Given the description of an element on the screen output the (x, y) to click on. 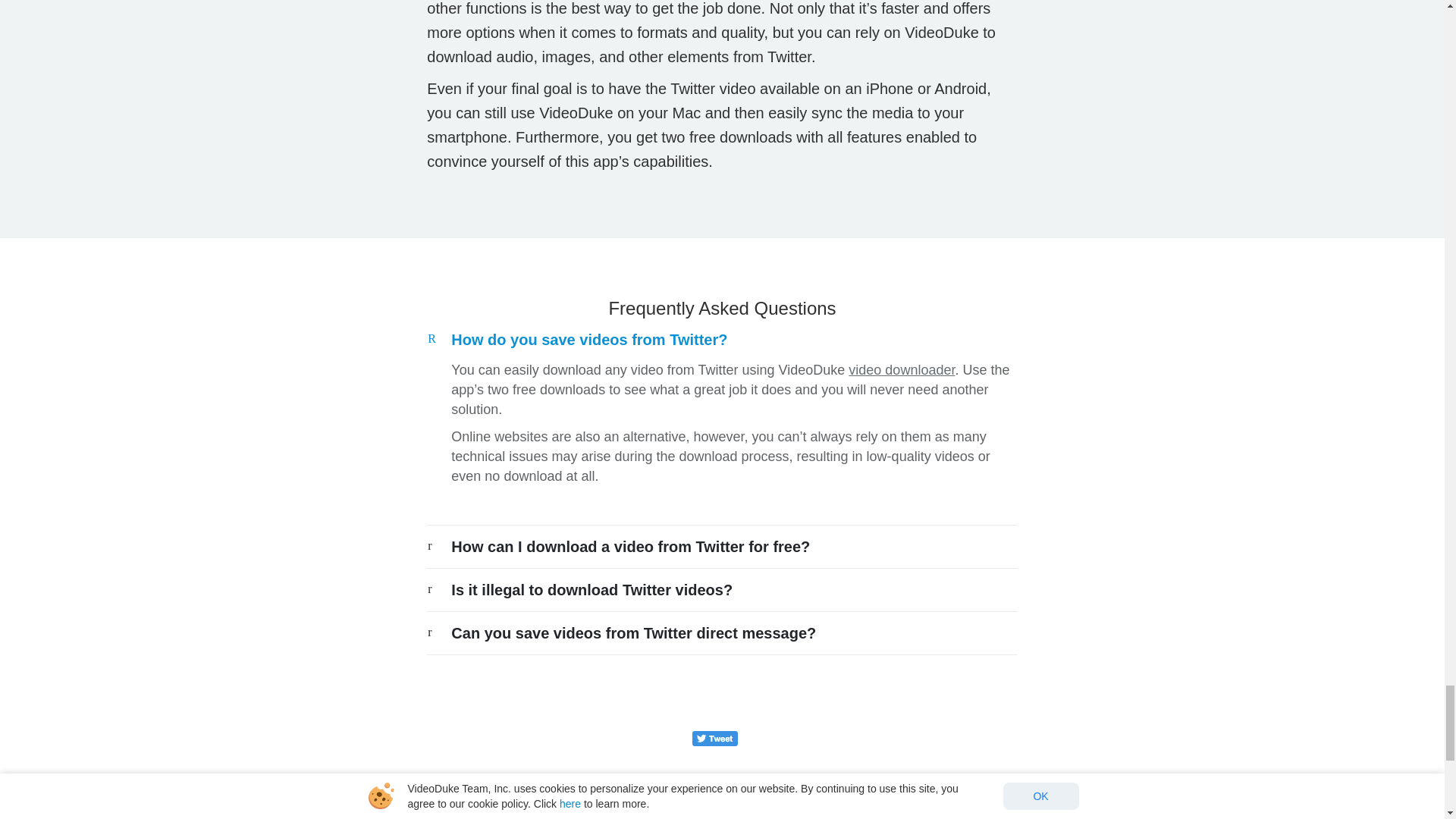
Twitter video downloader (559, 816)
Twitter video downloader (559, 816)
Video Downloader for Mac (423, 816)
Is it illegal to download Twitter videos? (591, 588)
video downloader (901, 369)
How do you save videos from Twitter? (588, 339)
Video Downloader for Mac (423, 816)
How to download Twitter videos (706, 816)
How to download Twitter videos (706, 816)
How can I download a video from Twitter for free? (630, 546)
Can you save videos from Twitter direct message? (633, 632)
